Given the description of an element on the screen output the (x, y) to click on. 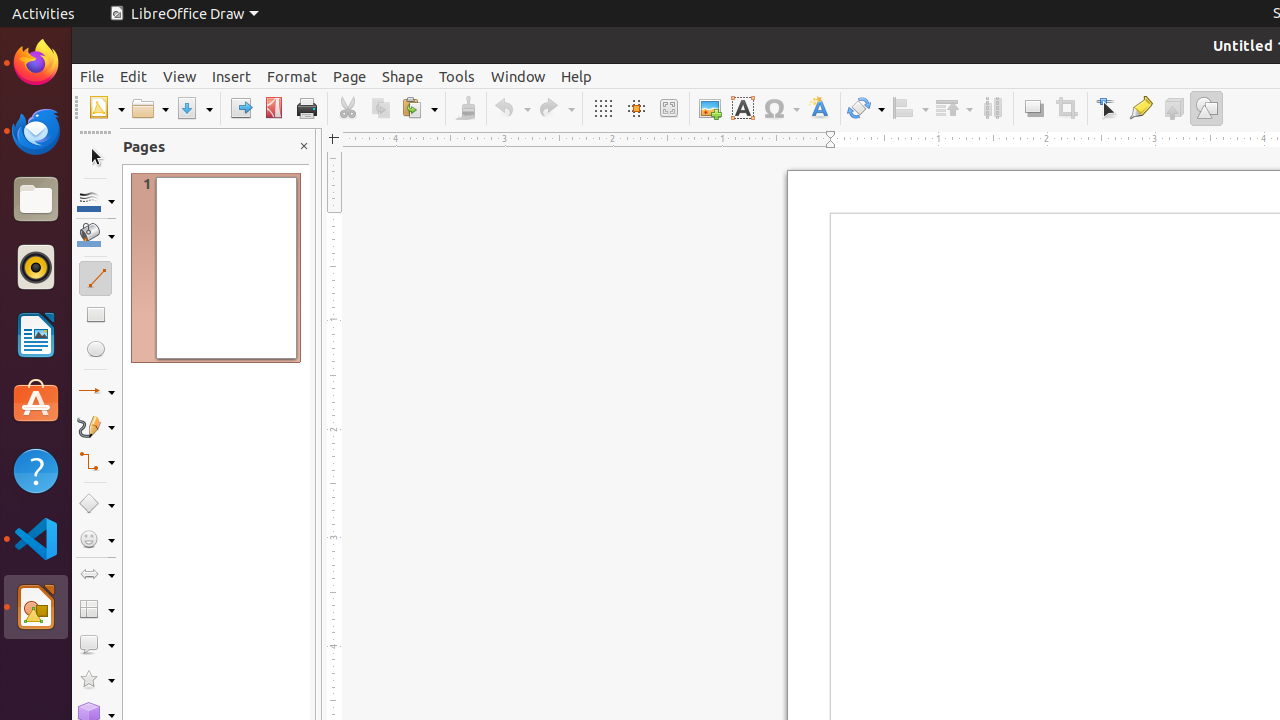
Close Pane Element type: push-button (303, 146)
Rhythmbox Element type: push-button (36, 267)
Arrange Element type: push-button (954, 108)
PDF Element type: push-button (273, 108)
